Given the description of an element on the screen output the (x, y) to click on. 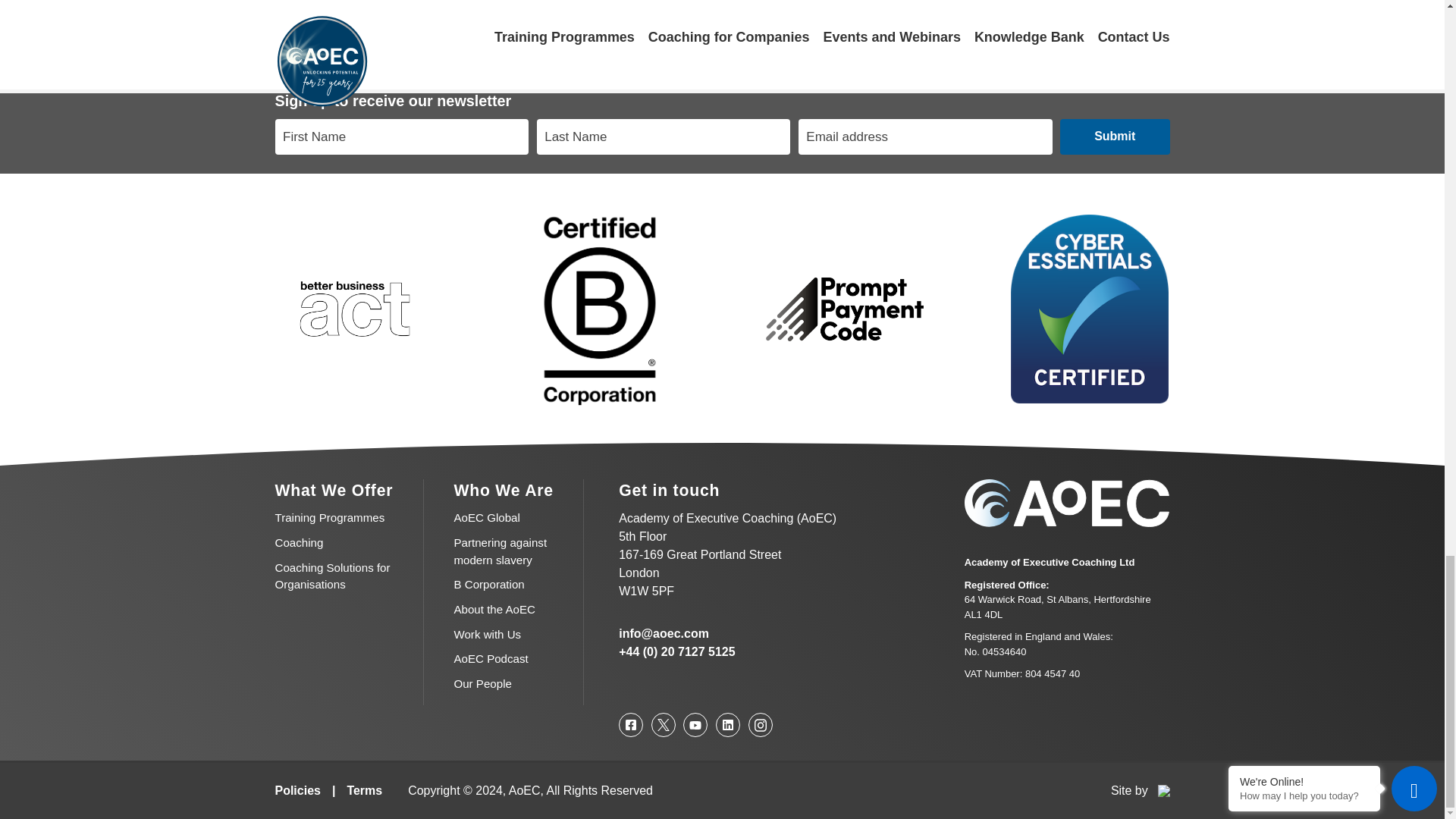
AoEC Global (485, 517)
Training Programmes (329, 517)
Coaching Solutions for Organisations (332, 576)
Submit (1114, 136)
Coaching (299, 542)
AoEC Podcast (489, 658)
Our People (481, 683)
Partnering against modern slavery (499, 551)
About the AoEC (493, 608)
B Corporation (488, 584)
Work with Us (486, 634)
